Given the description of an element on the screen output the (x, y) to click on. 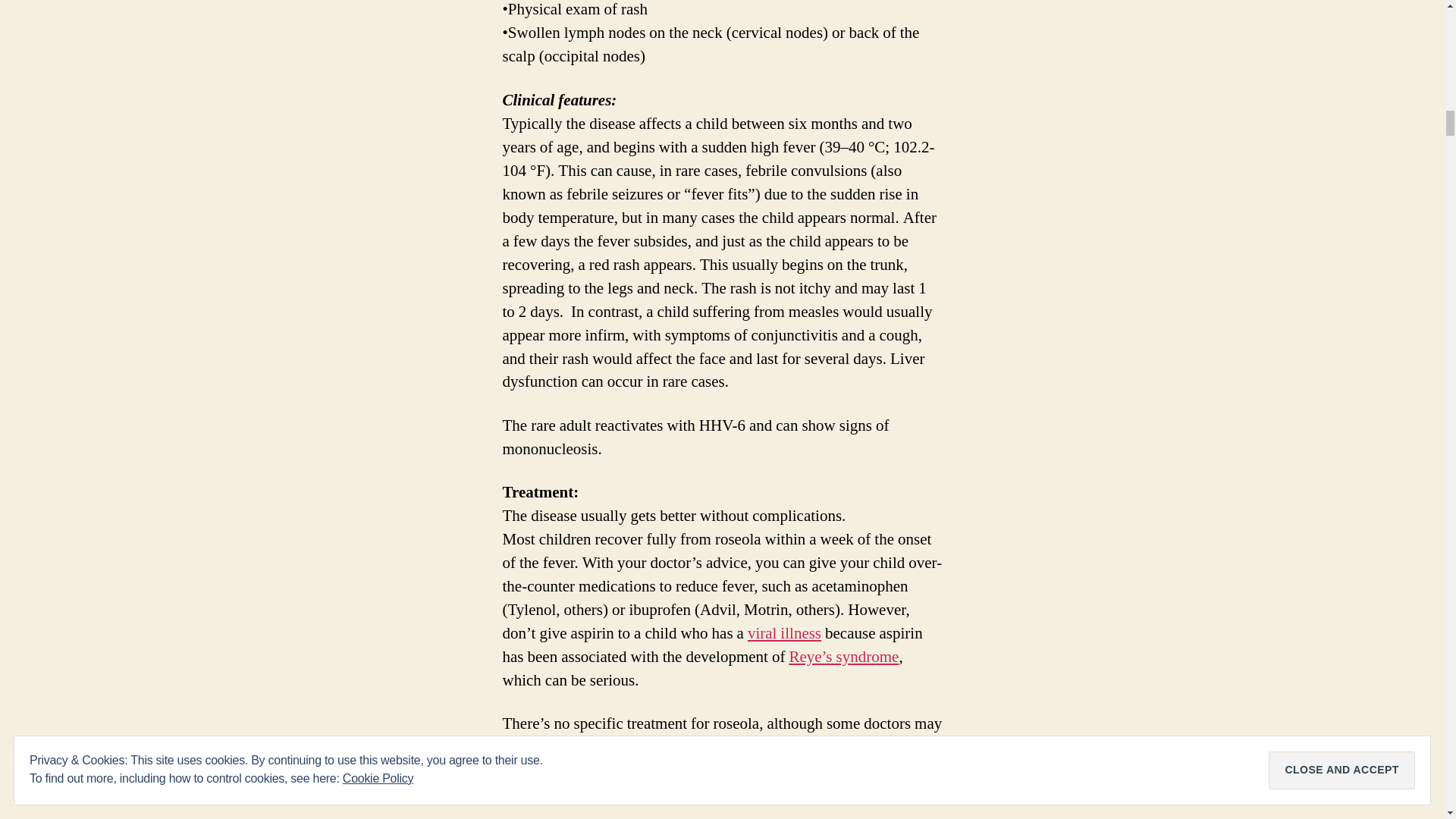
Cytovene (829, 747)
Ganciclovir (829, 747)
Reye's syndrome (843, 657)
viral illness (784, 633)
Virus (784, 633)
